Given the description of an element on the screen output the (x, y) to click on. 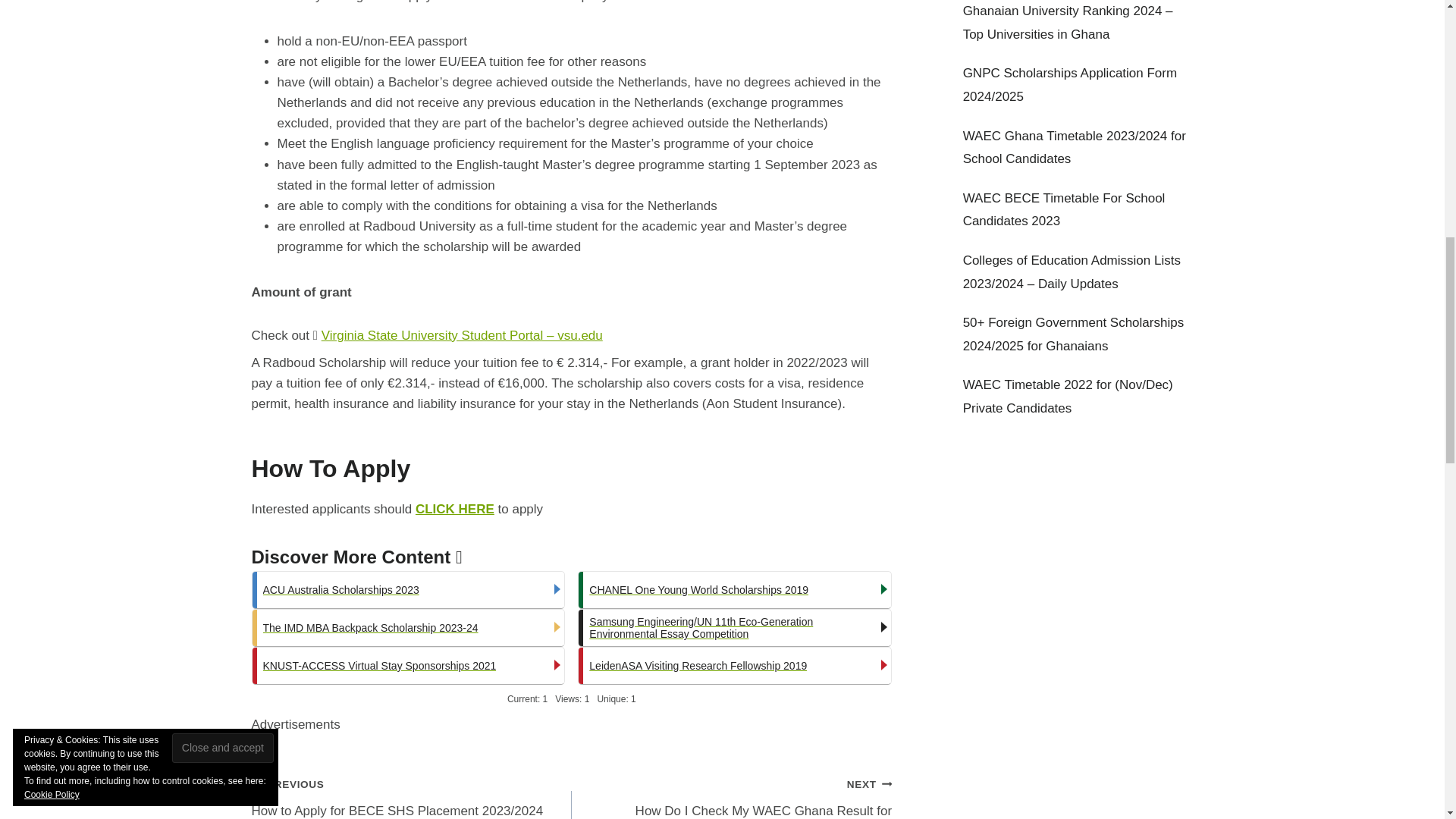
KNUST-ACCESS Virtual Stay Sponsorships 2021 (408, 665)
CLICK HERE (454, 509)
CHANEL One Young World Scholarships 2019 (734, 589)
The IMD MBA Backpack Scholarship 2023-24 (408, 628)
ACU Australia Scholarships 2023 (408, 589)
LeidenASA Visiting Research Fellowship 2019 (734, 665)
